Given the description of an element on the screen output the (x, y) to click on. 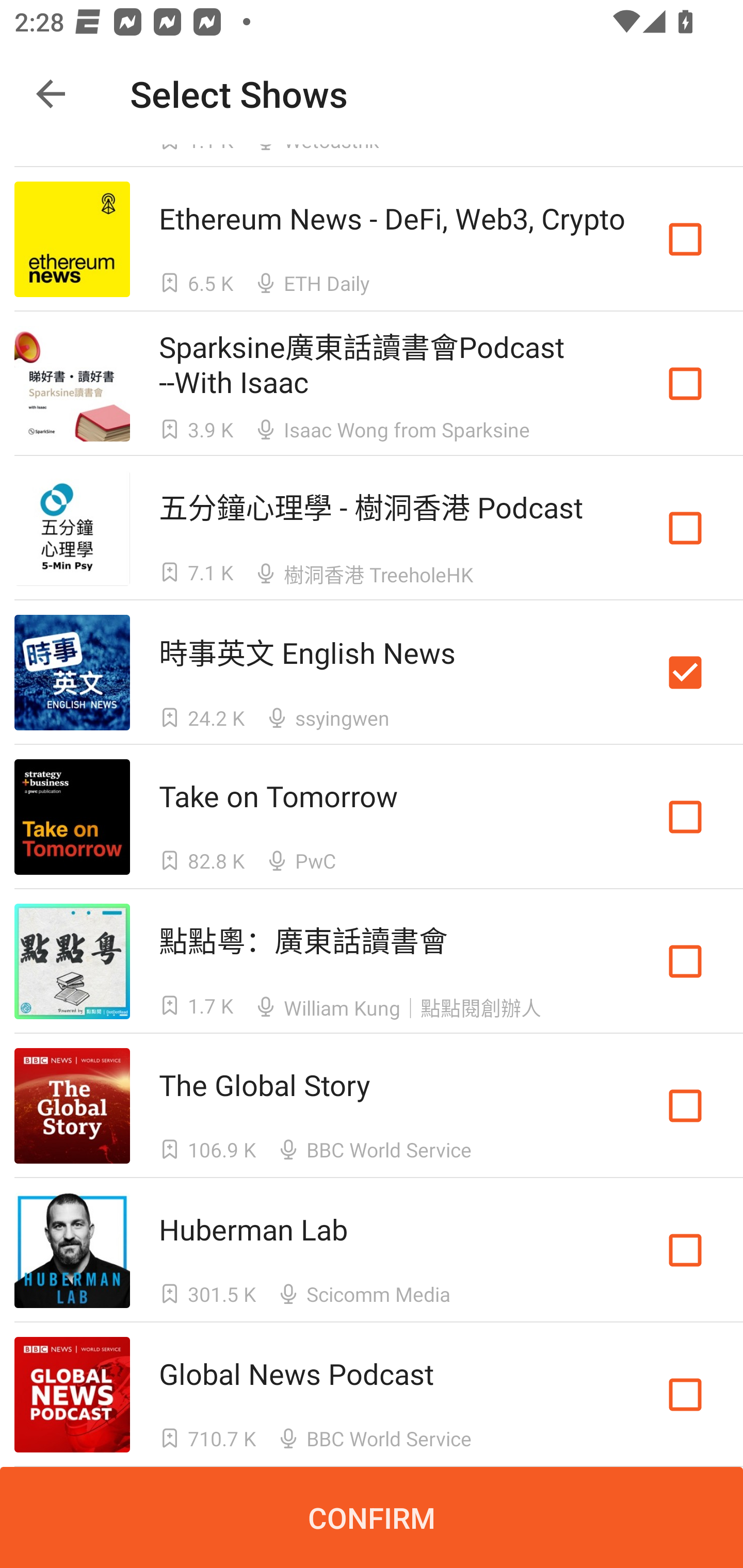
Navigate up (50, 93)
Take on Tomorrow Take on Tomorrow  82.8 K  PwC (371, 816)
CONFIRM (371, 1517)
